Given the description of an element on the screen output the (x, y) to click on. 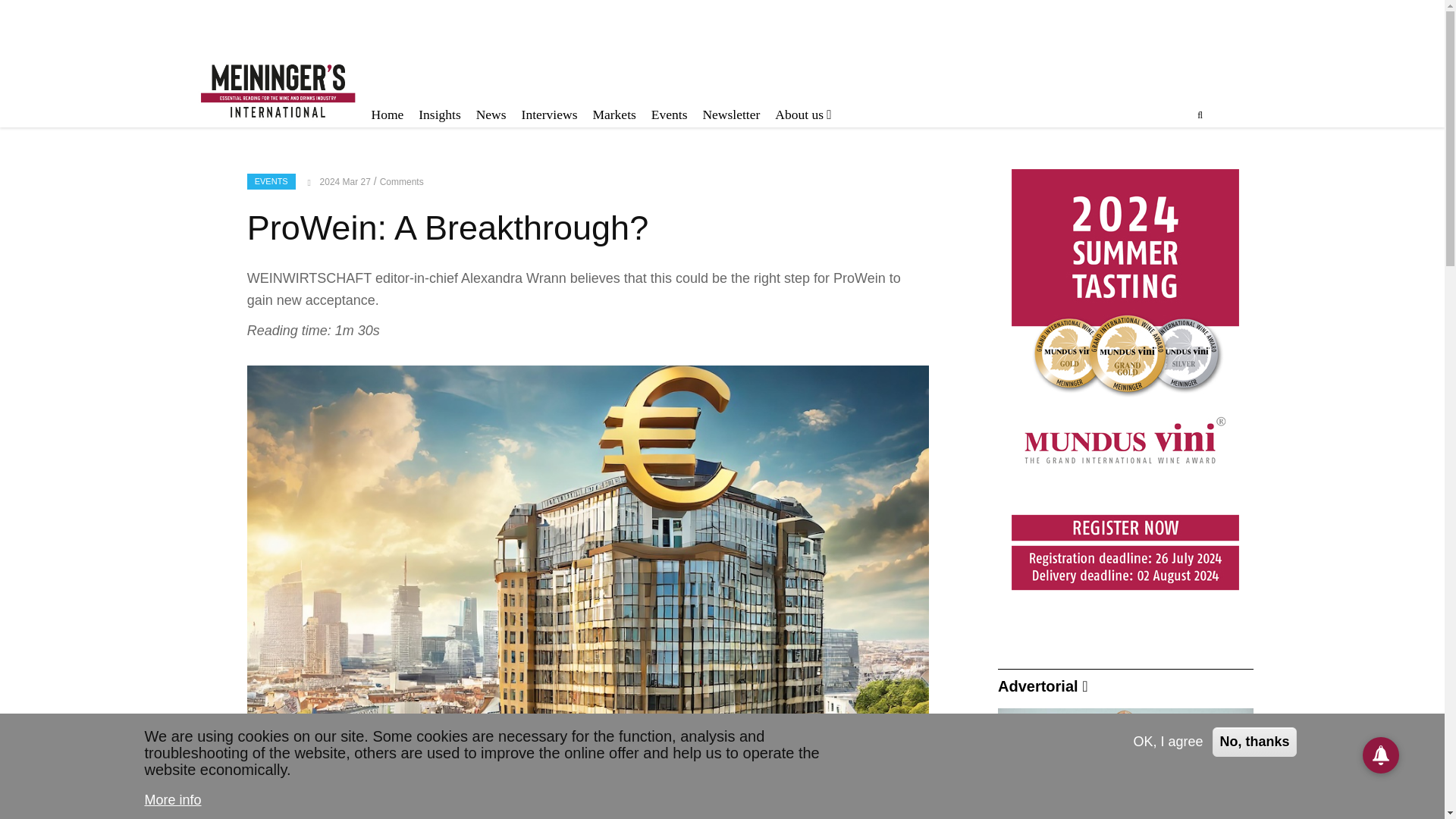
Markets (614, 115)
News (490, 115)
About us (802, 115)
Home (388, 115)
Insights (438, 115)
EVENTS (271, 181)
Interviews (549, 115)
Newsletter (730, 115)
Search (1131, 176)
Events (669, 115)
